Given the description of an element on the screen output the (x, y) to click on. 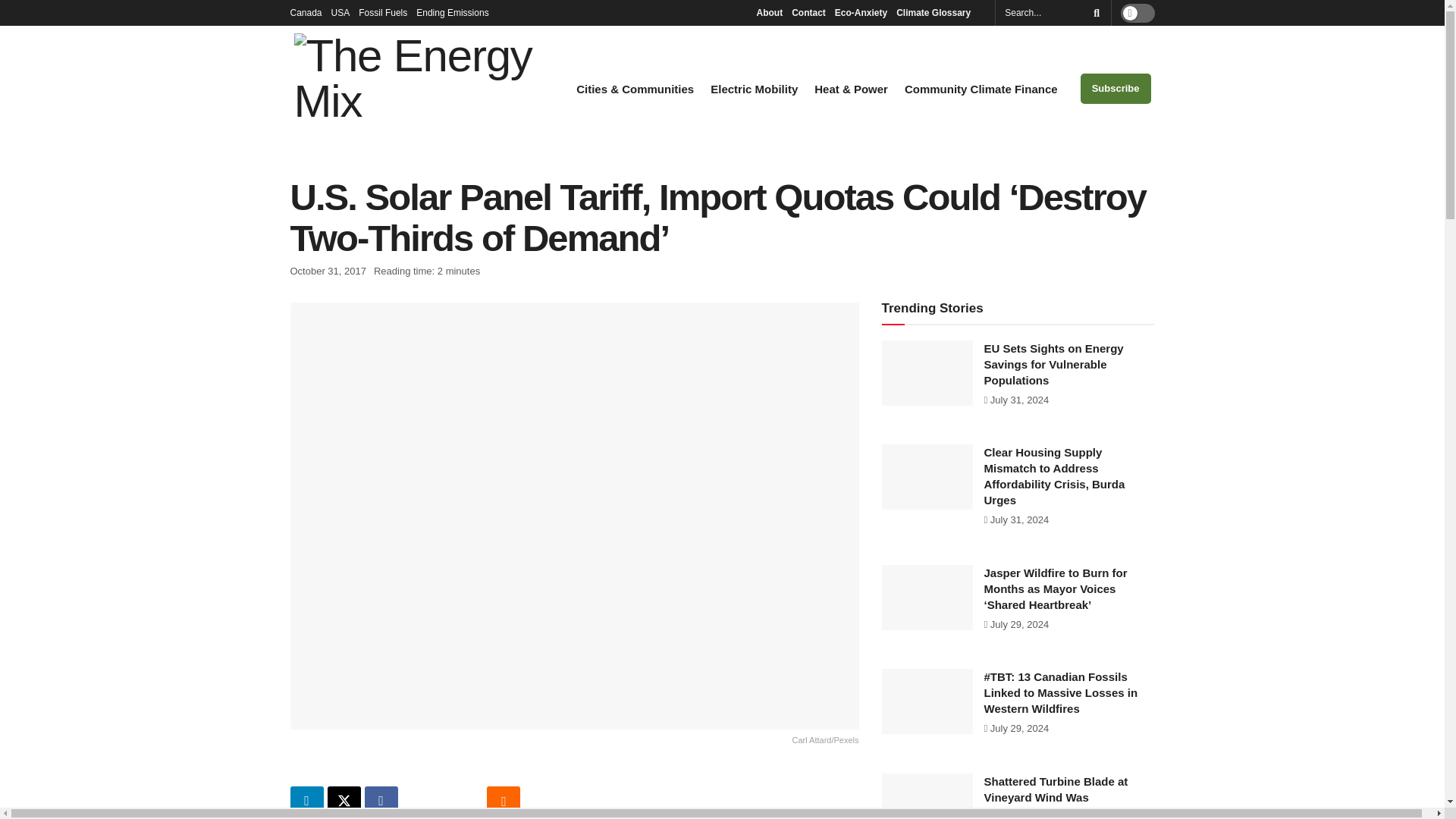
October 31, 2017 (327, 270)
Contact (808, 12)
Climate Glossary (937, 12)
About (769, 12)
Ending Emissions (456, 12)
Eco-Anxiety (860, 12)
Canada (305, 12)
Community Climate Finance (981, 89)
Fossil Fuels (382, 12)
Electric Mobility (753, 89)
